Given the description of an element on the screen output the (x, y) to click on. 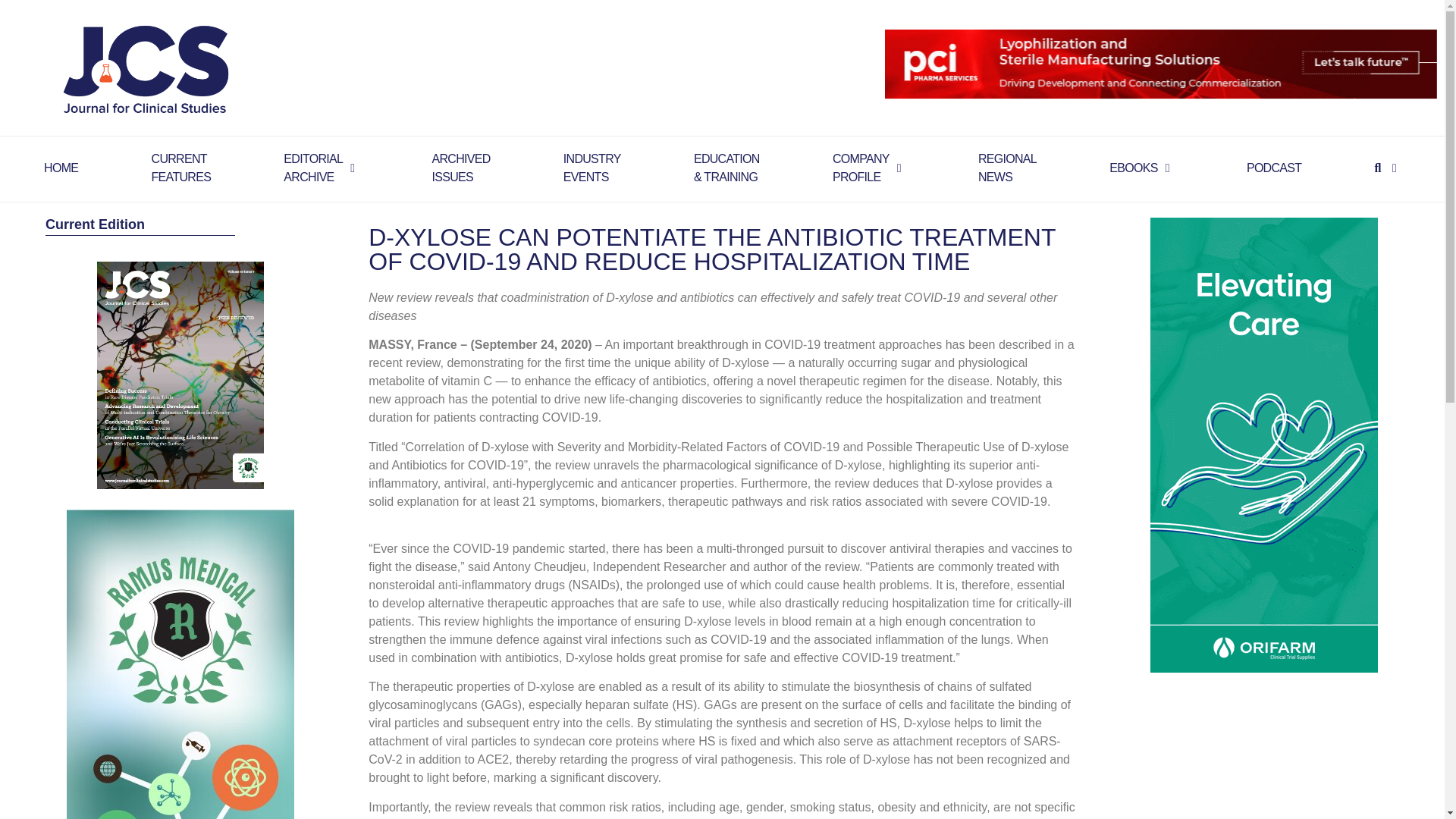
HOME (459, 167)
PODCAST (592, 167)
